Given the description of an element on the screen output the (x, y) to click on. 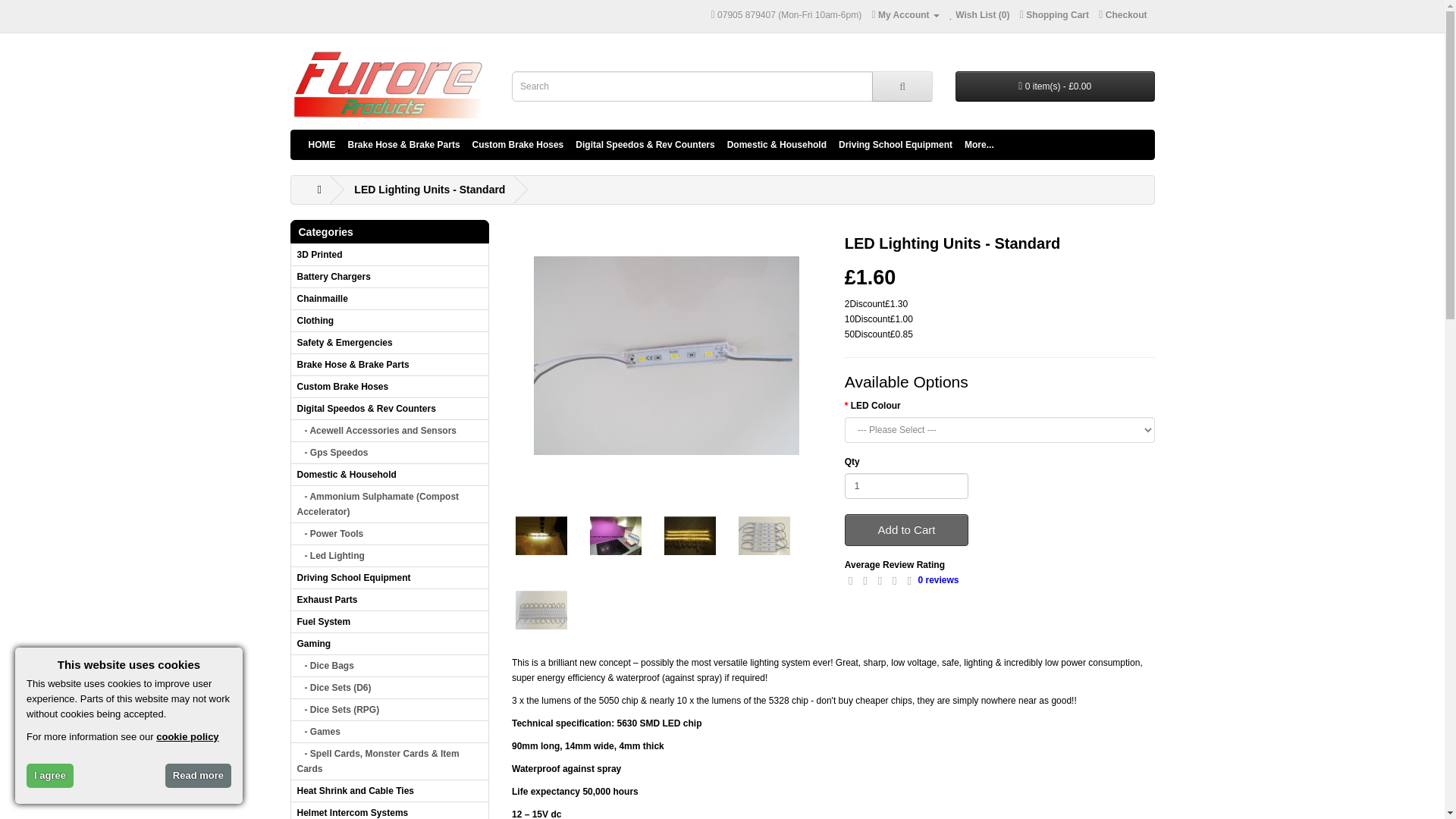
My Account (905, 14)
Custom Brake Hoses (518, 144)
My Account (905, 14)
LED Lighting Units - Standard (541, 610)
LED Lighting Units - Standard (666, 355)
LED Lighting Units - Standard (429, 189)
Checkout (1123, 14)
3D Printed (389, 254)
Driving School Equipment (895, 144)
LED Lighting Units - Standard (689, 535)
Shopping Cart (1054, 14)
LED Lighting Units - Standard (764, 535)
More... (978, 144)
LED Lighting Units - Standard (541, 535)
1 (906, 485)
